Given the description of an element on the screen output the (x, y) to click on. 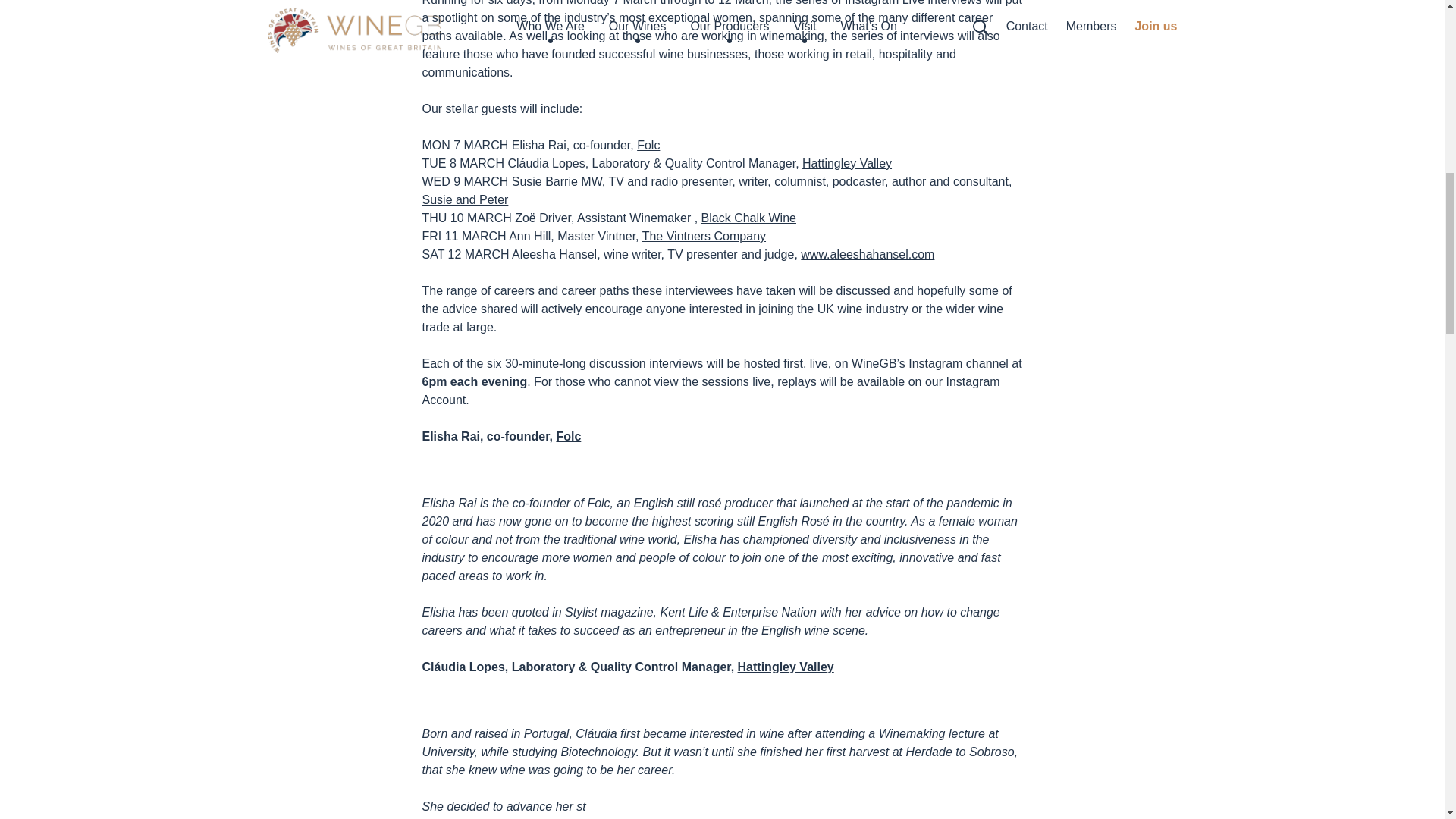
Folc (648, 144)
Black Chalk Wine (748, 217)
Susie and Peter (465, 199)
Hattingley Valley (846, 163)
The Vintners Company (703, 236)
